Given the description of an element on the screen output the (x, y) to click on. 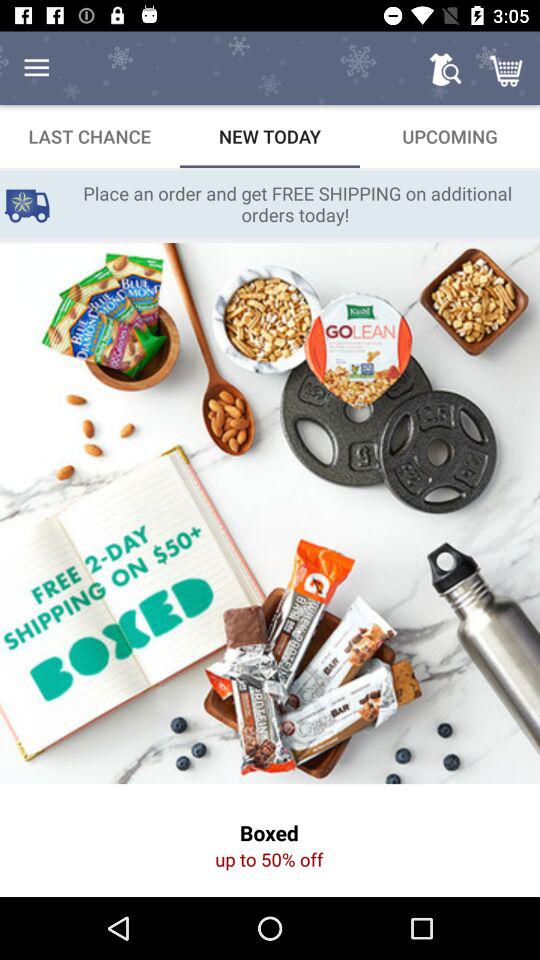
turn on the icon above the upcoming (444, 67)
